Given the description of an element on the screen output the (x, y) to click on. 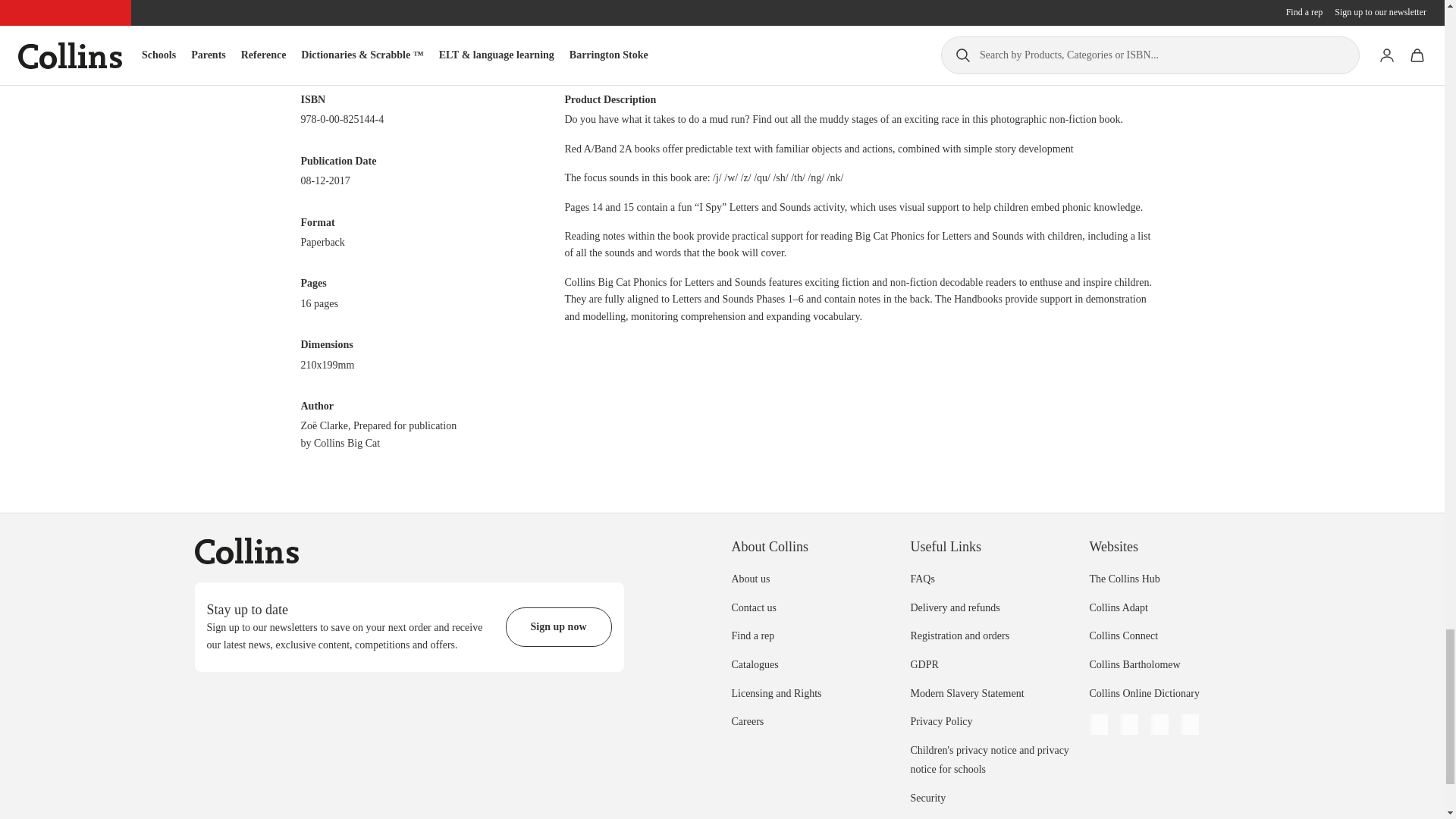
Licensing and Rights (775, 693)
Find a rep (752, 635)
Security (927, 797)
Privacy Policy (941, 721)
FAQs (922, 578)
GDPR (923, 664)
Children's privacy notice and privacy notice for schools (989, 759)
Sign up now (558, 627)
Registration and orders (959, 635)
Modern Slavery Statement (966, 693)
